Given the description of an element on the screen output the (x, y) to click on. 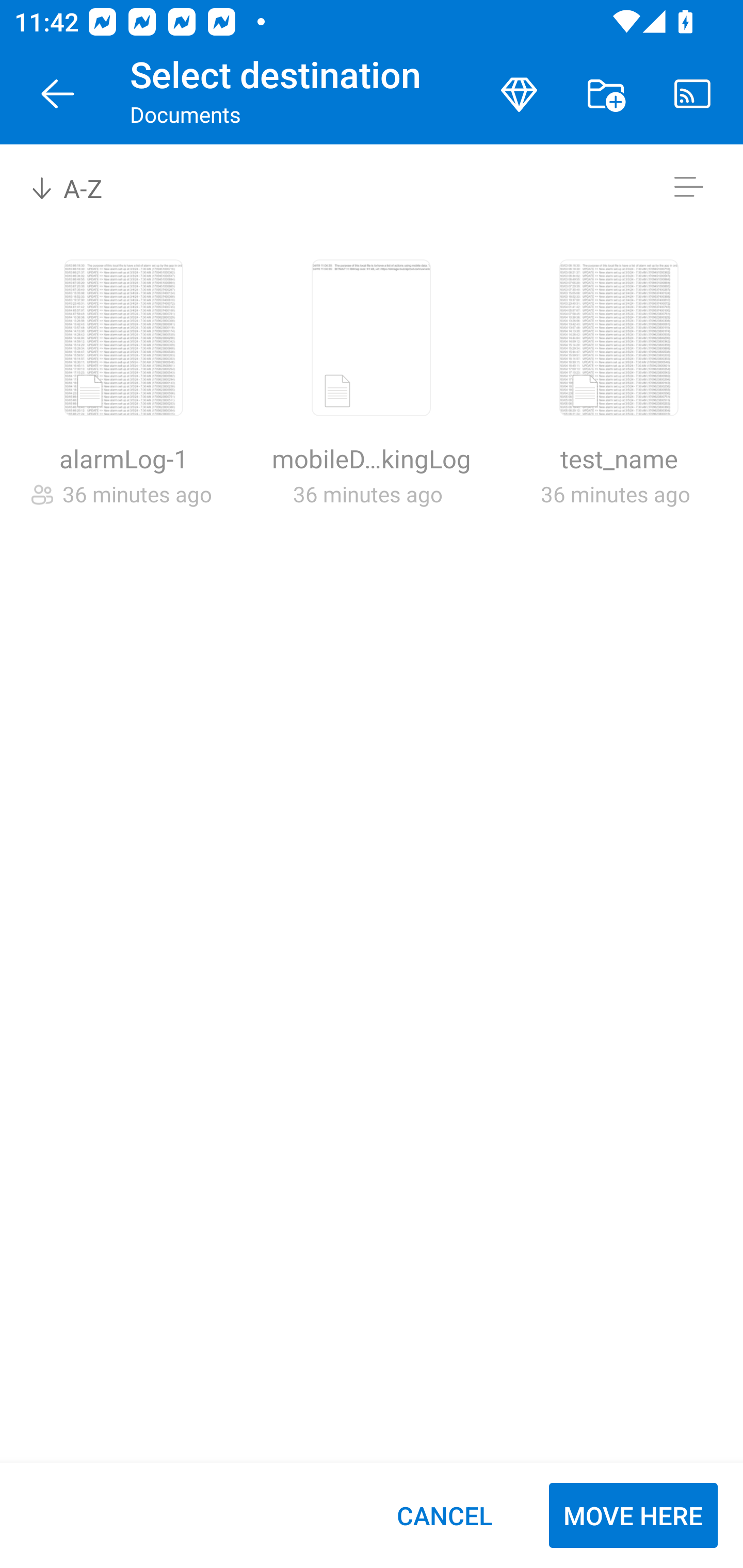
Navigate Up (57, 93)
Cast. Disconnected (692, 93)
Premium button (518, 93)
More actions button (605, 93)
A-Z Sort by combo box, sort by name, A to Z (80, 187)
Switch to list view (688, 187)
Document Shared alarmLog-1 36 minutes ago (123, 393)
Document mobileDataTrackingLog 36 minutes ago (370, 393)
Document test_name 36 minutes ago (618, 393)
36 minutes ago (136, 493)
36 minutes ago (367, 493)
36 minutes ago (615, 493)
CANCEL (443, 1515)
MOVE HERE (633, 1515)
